Given the description of an element on the screen output the (x, y) to click on. 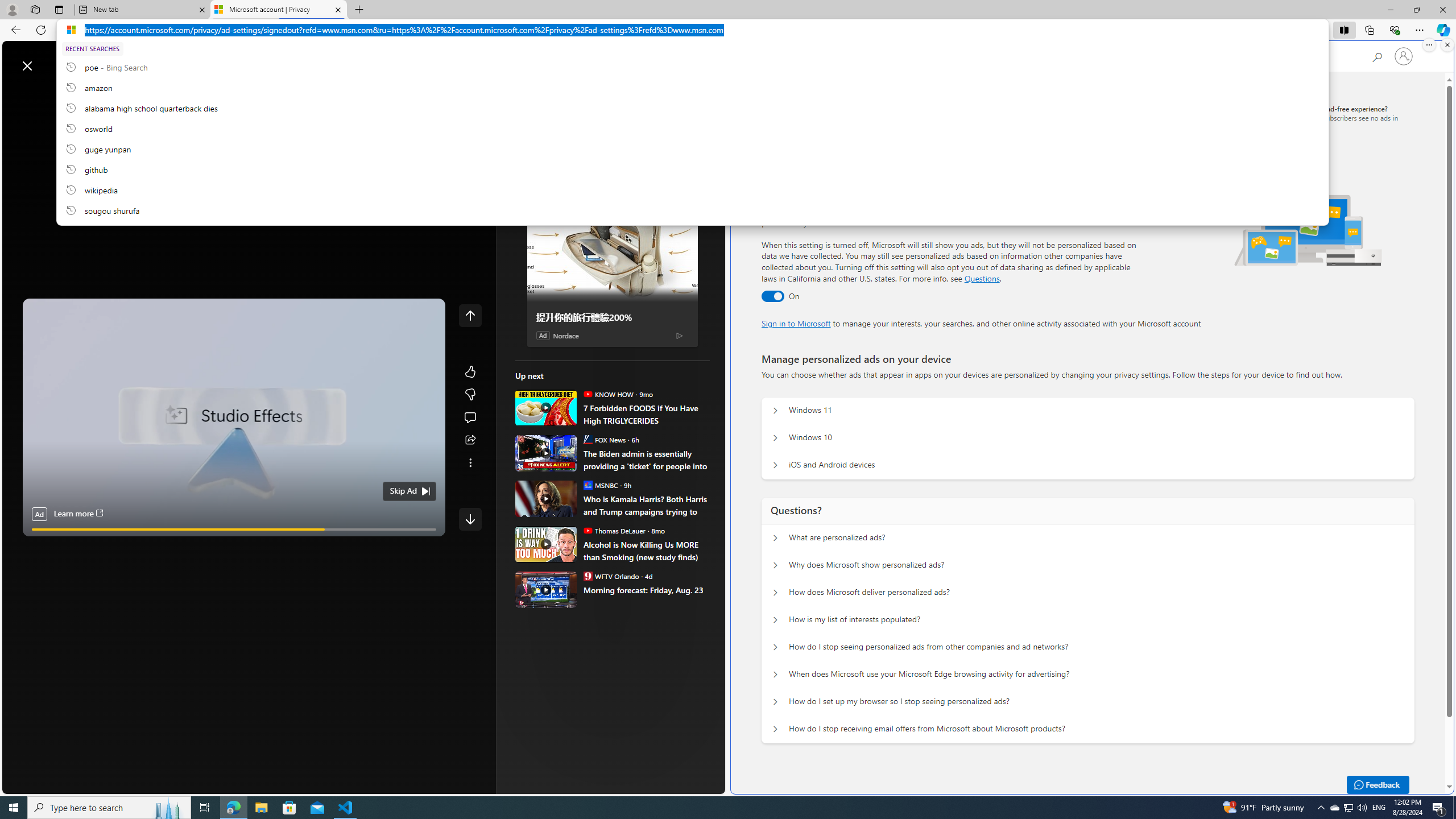
amazon, recent searches from history (691, 86)
Sign in to your account (1404, 55)
Questions? How is my list of interests populated? (775, 619)
FOX News FOX News (604, 438)
Share this story (469, 440)
MetDaan (519, 96)
